Given the description of an element on the screen output the (x, y) to click on. 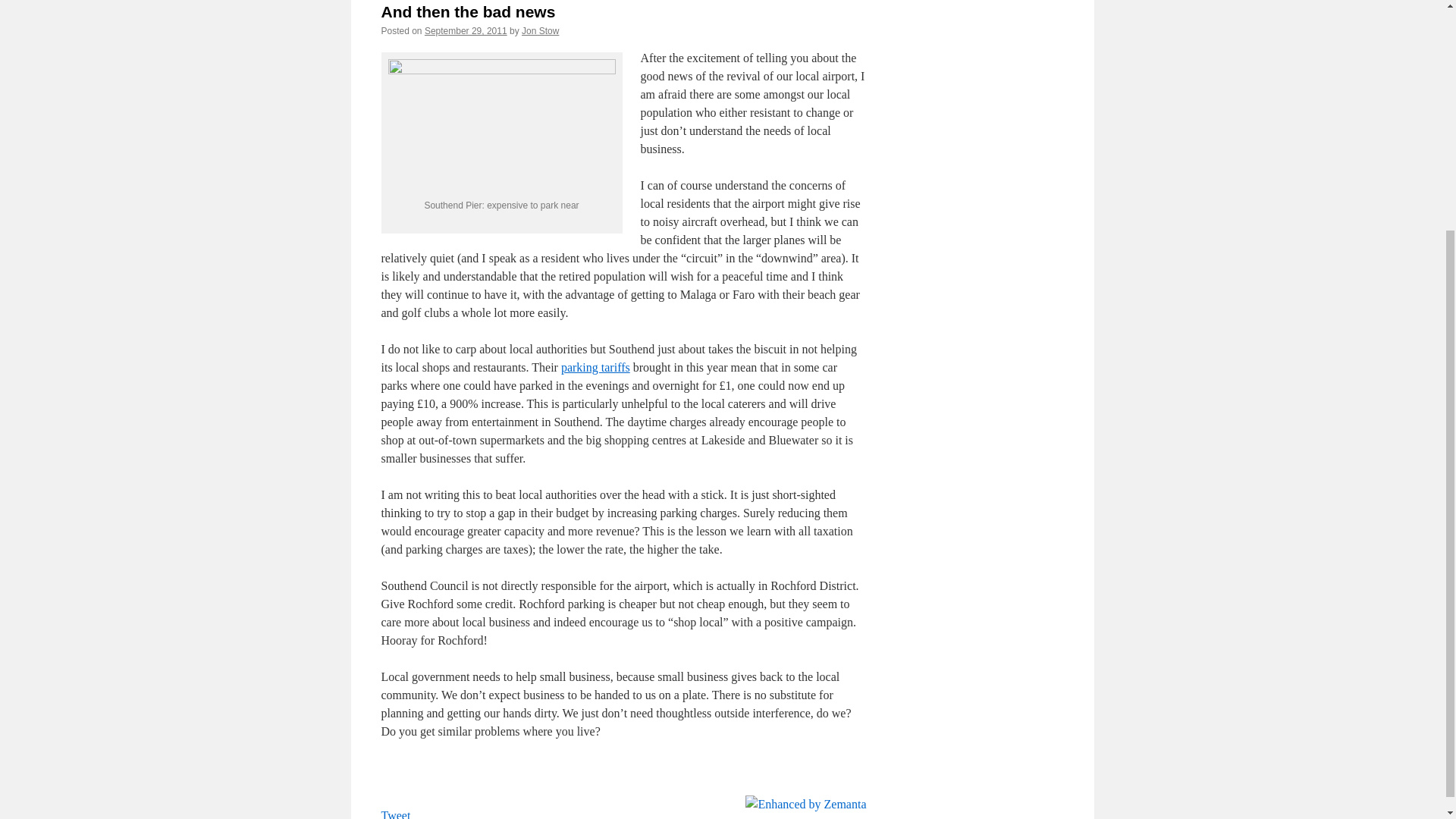
View all posts by Jon Stow (540, 30)
parking tariffs (595, 367)
10:21 am (465, 30)
September 29, 2011 (465, 30)
IMAG0008 (501, 126)
Jon Stow (540, 30)
